Given the description of an element on the screen output the (x, y) to click on. 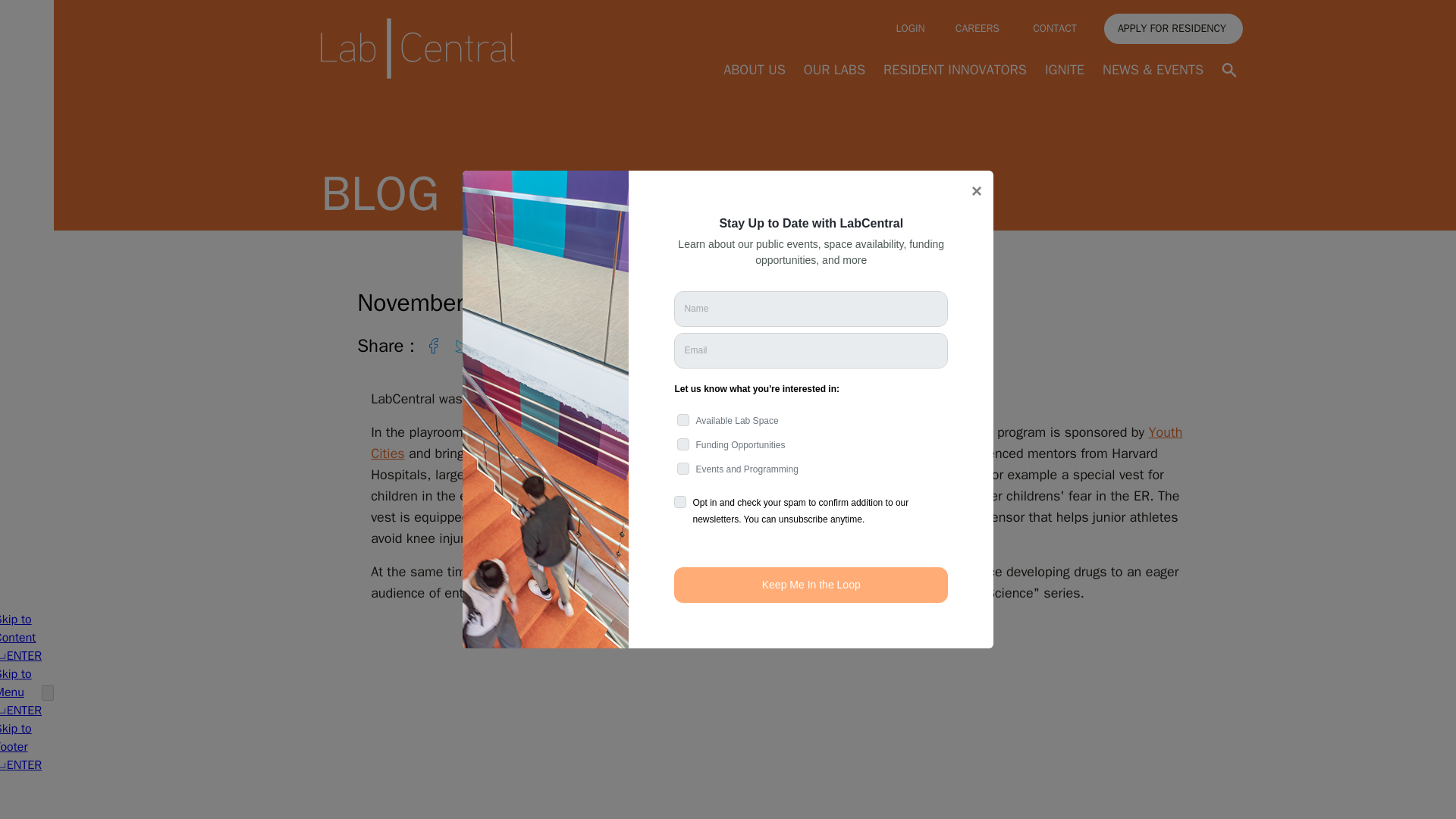
ABOUT US (754, 69)
CAREERS  (979, 28)
CONTACT  (1056, 28)
LOGIN (909, 28)
RESIDENT INNOVATORS (954, 69)
LOGIN (909, 28)
ABOUT US (754, 69)
RESIDENT INNOVATORS (954, 69)
CONTACT  (1056, 28)
APPLY FOR RESIDENCY  (1173, 28)
IGNITE (1064, 69)
OUR LABS (833, 69)
OUR LABS (833, 69)
IGNITE (1064, 69)
